Given the description of an element on the screen output the (x, y) to click on. 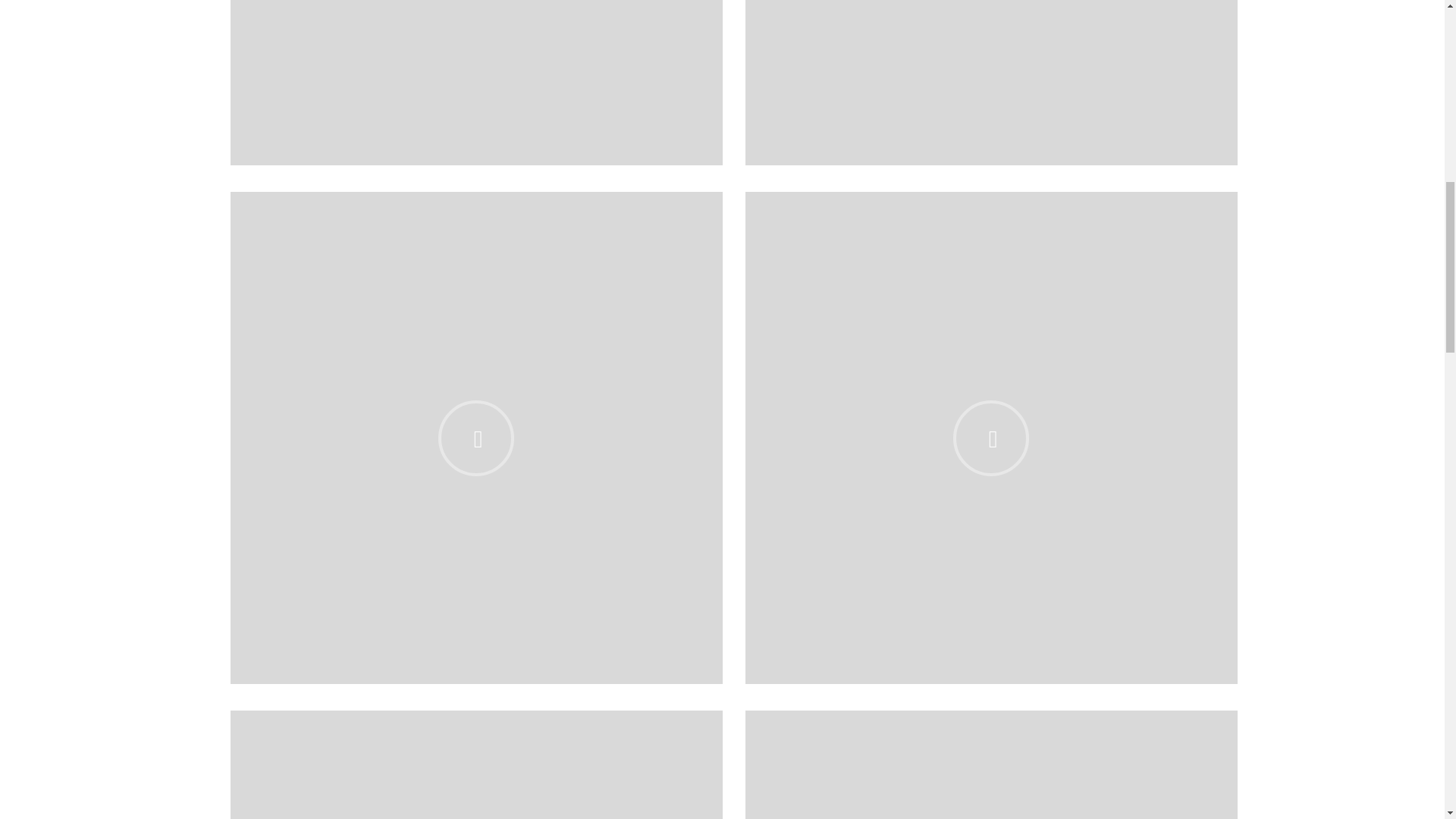
Buttercup (476, 82)
Coach Chris (990, 82)
Diligent Urgent Care (476, 764)
EMBER (990, 764)
